Given the description of an element on the screen output the (x, y) to click on. 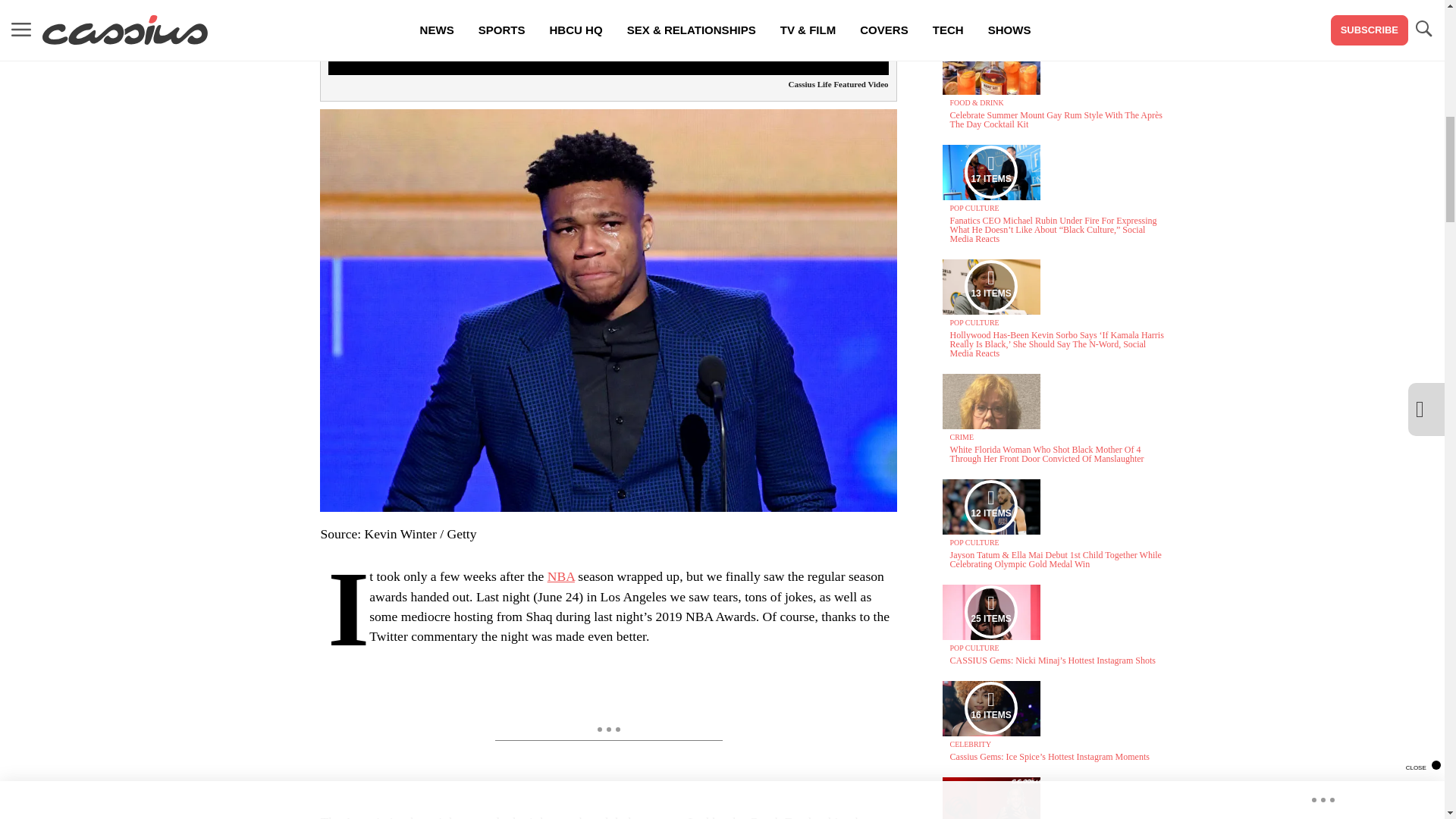
Media Playlist (990, 611)
Media Playlist (990, 707)
Media Playlist (990, 286)
NBA (561, 575)
Media Playlist (990, 506)
Media Playlist (990, 172)
